Given the description of an element on the screen output the (x, y) to click on. 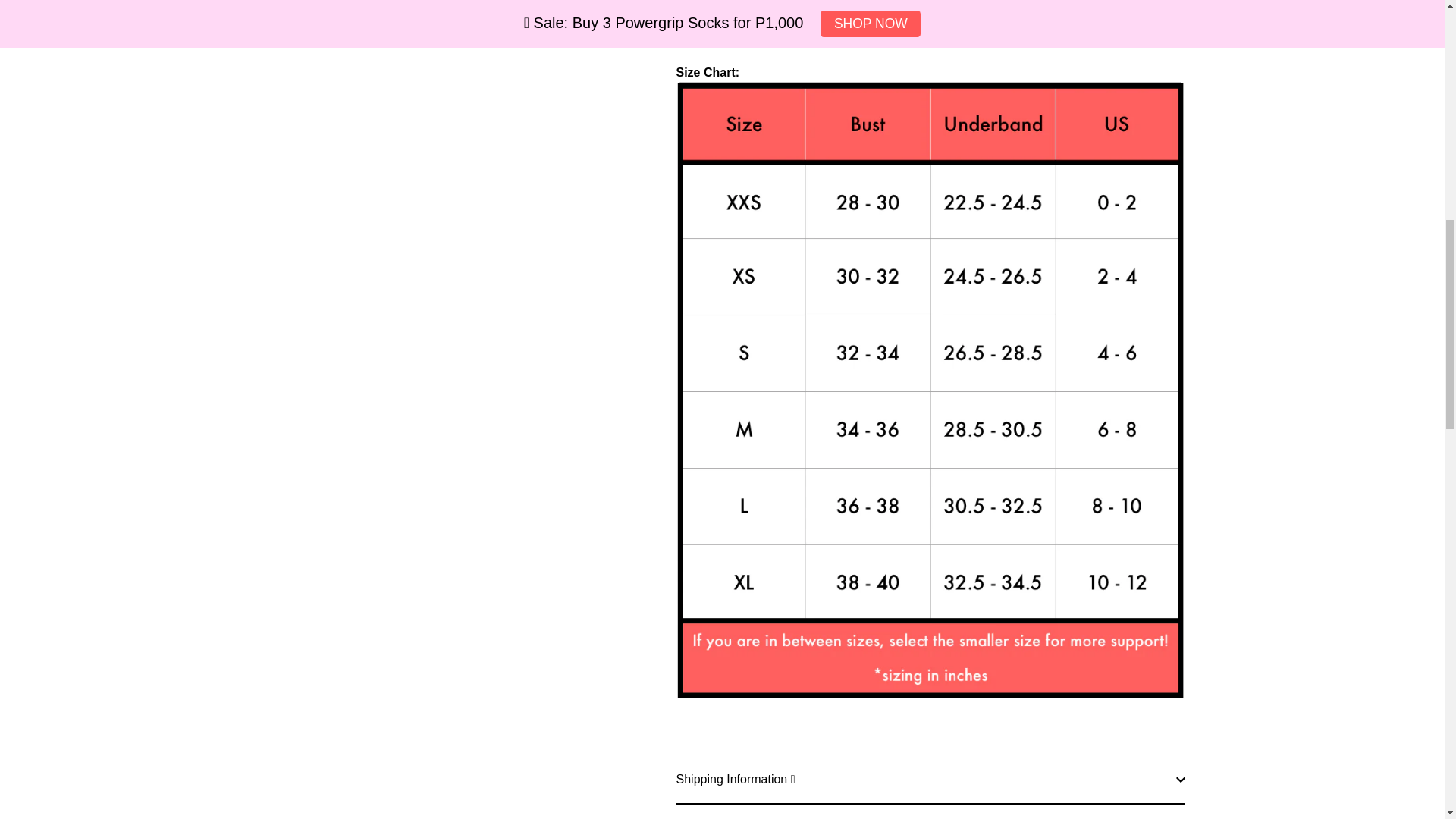
ICON-HAMBURGER (130, 47)
